Given the description of an element on the screen output the (x, y) to click on. 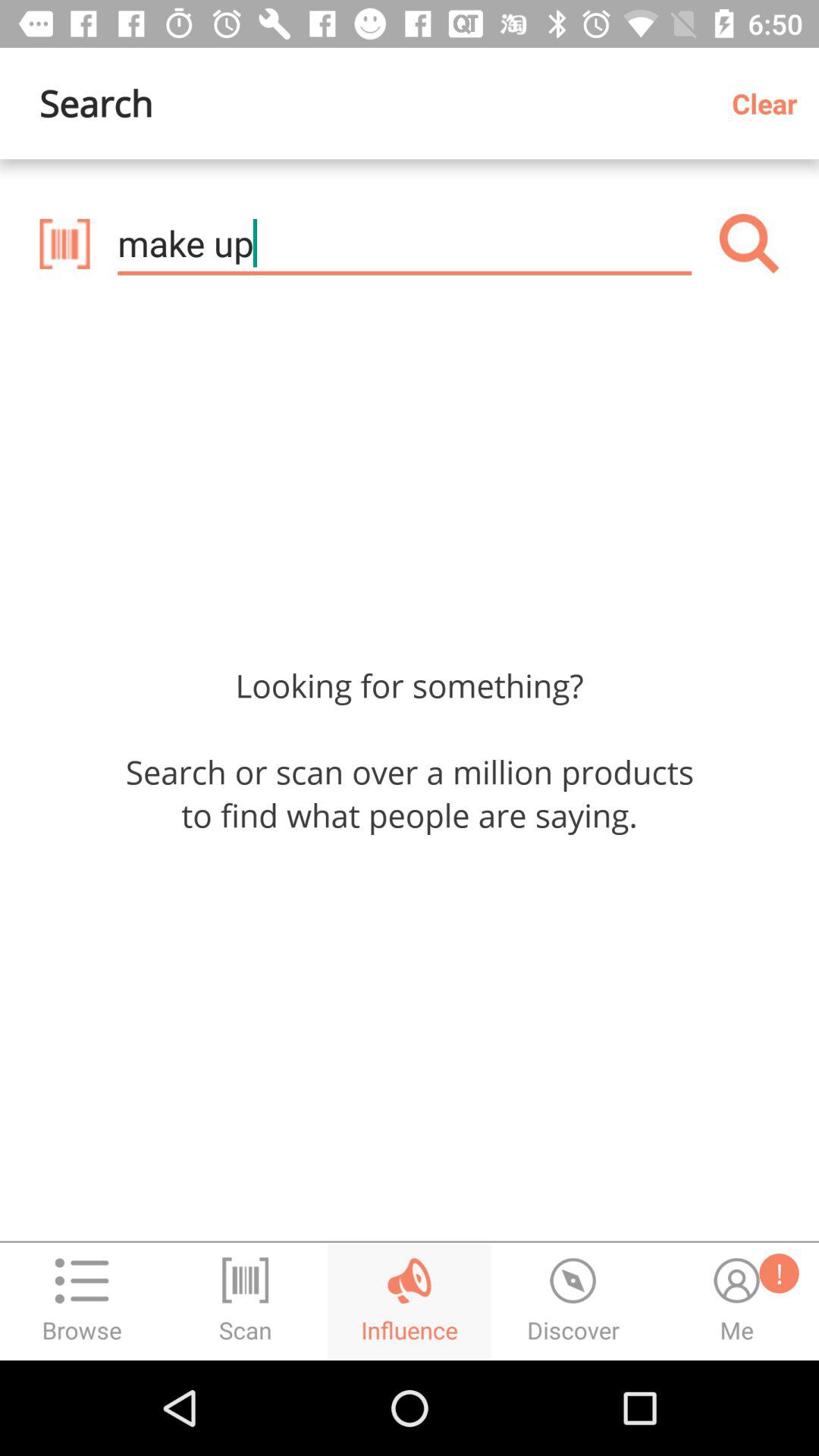
open the item next to make up item (749, 243)
